Given the description of an element on the screen output the (x, y) to click on. 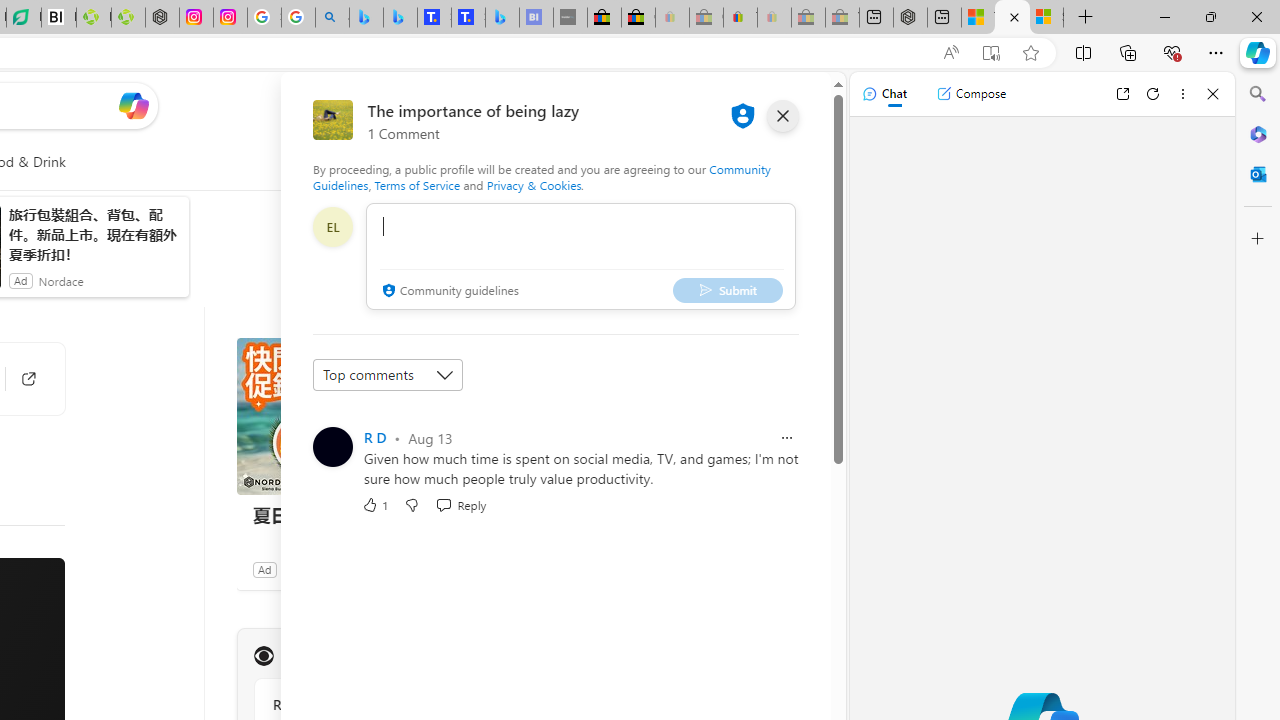
Nordace - Nordace Edin Collection (162, 17)
Press Room - eBay Inc. - Sleeping (808, 17)
Report comment (786, 437)
Compose (971, 93)
Safety in Our Products - Google Safety Center (264, 17)
Threats and offensive language policy | eBay (740, 17)
Yard, Garden & Outdoor Living - Sleeping (841, 17)
Shangri-La Bangkok, Hotel reviews and Room rates (468, 17)
